Given the description of an element on the screen output the (x, y) to click on. 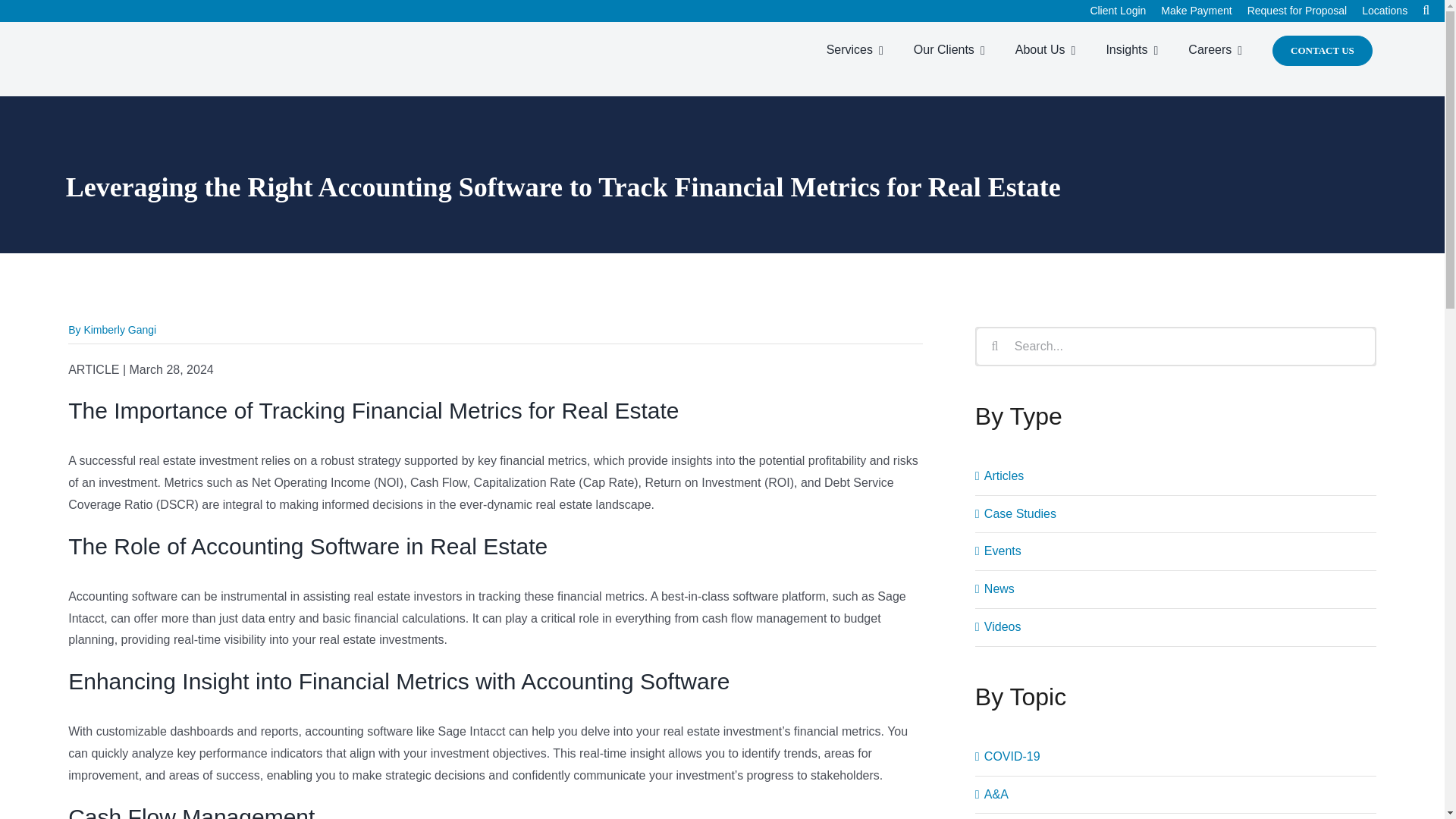
Posts by Kimberly Gangi (118, 329)
Make Payment (1203, 11)
Services (862, 50)
Request for Proposal (1304, 11)
Client Login (1124, 11)
Locations (1391, 11)
